Given the description of an element on the screen output the (x, y) to click on. 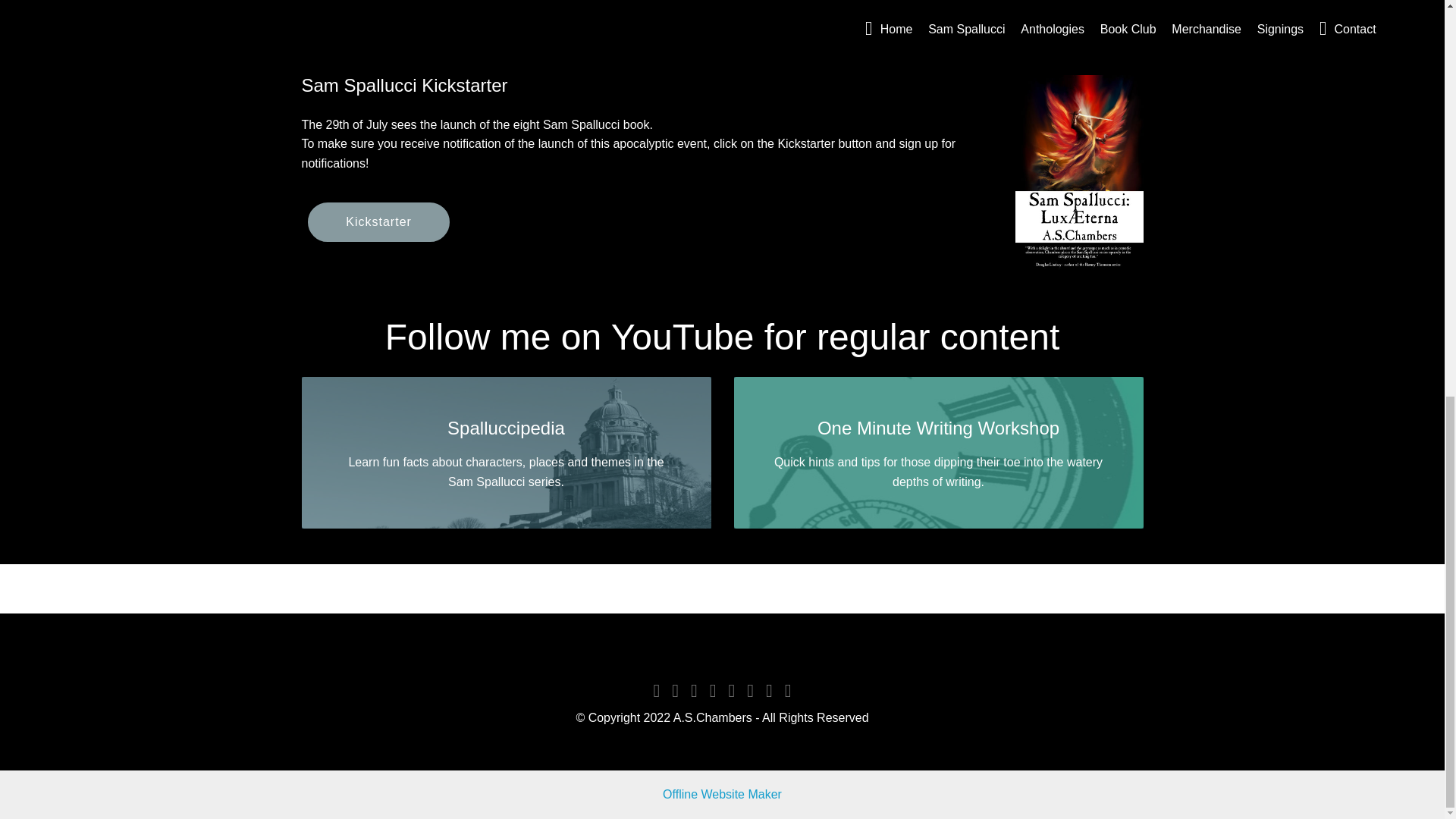
Offline Website Maker (721, 794)
Kickstarter (378, 221)
